Given the description of an element on the screen output the (x, y) to click on. 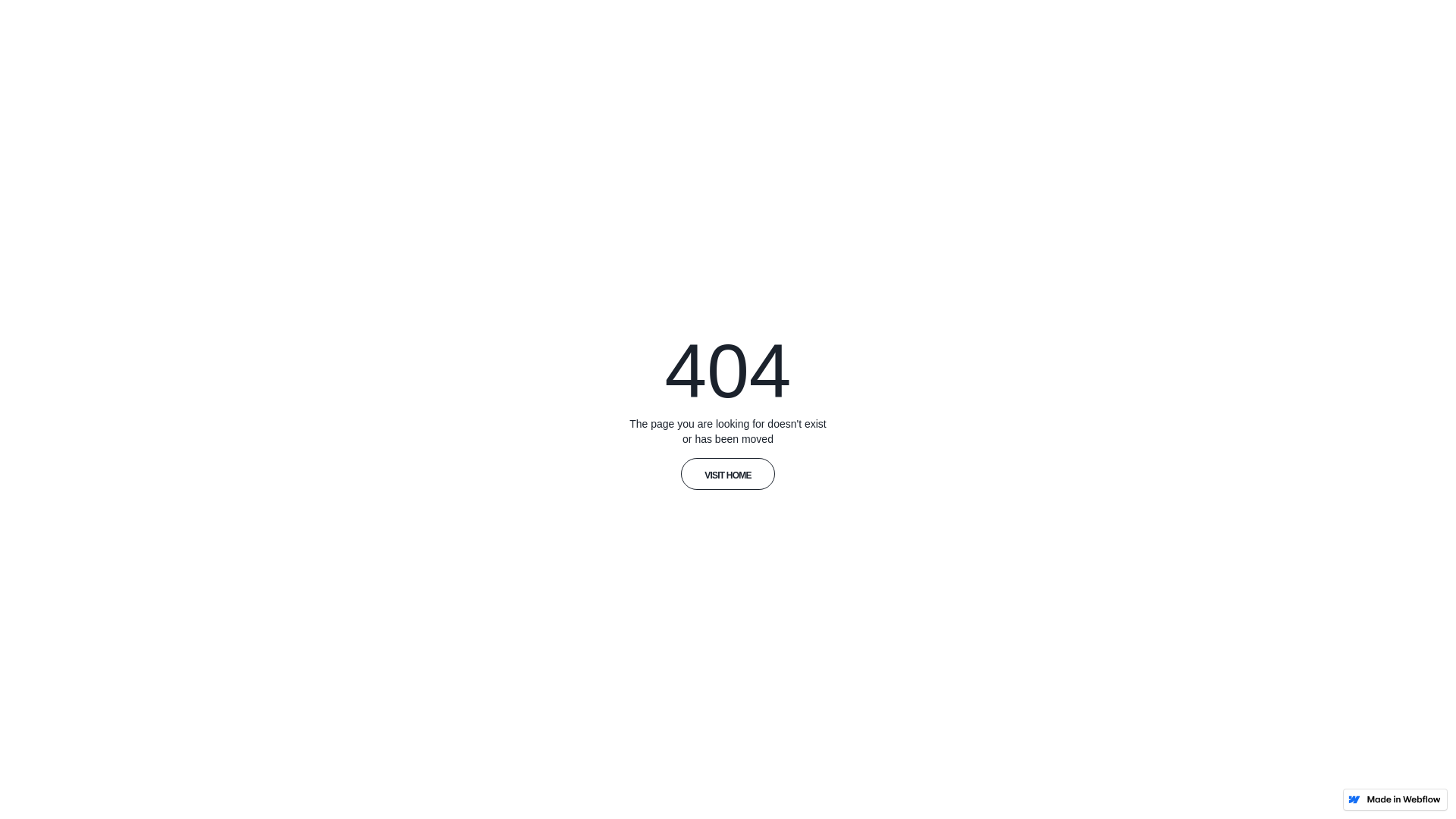
VISIT HOME Element type: text (727, 473)
